Given the description of an element on the screen output the (x, y) to click on. 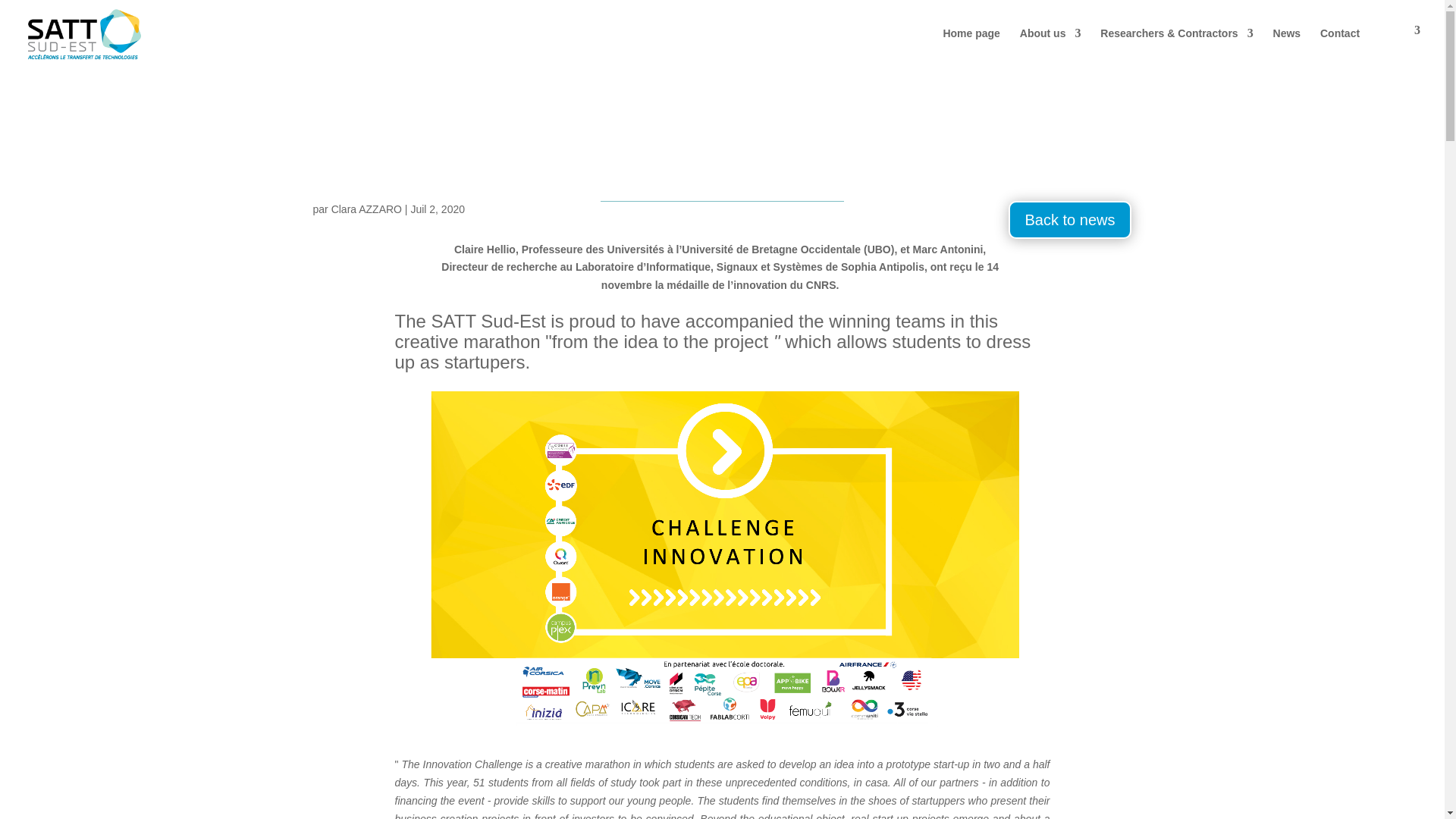
Articles de Clara AZZARO (366, 209)
Contact (1339, 45)
Clara AZZARO (366, 209)
Home page (970, 45)
English (1399, 46)
Back to news (1070, 219)
About us (1050, 45)
